Given the description of an element on the screen output the (x, y) to click on. 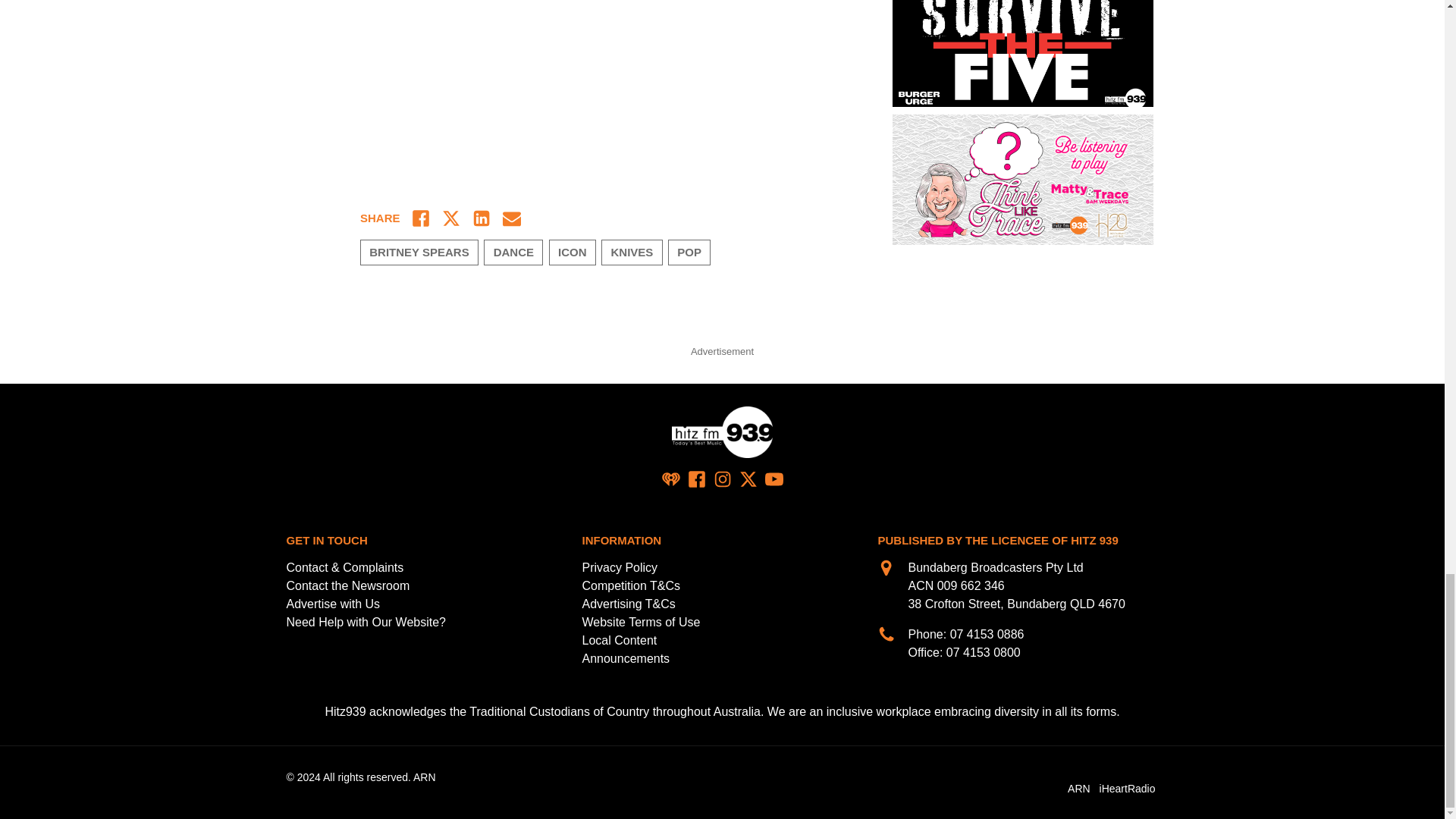
3rd party ad content (721, 305)
